Given the description of an element on the screen output the (x, y) to click on. 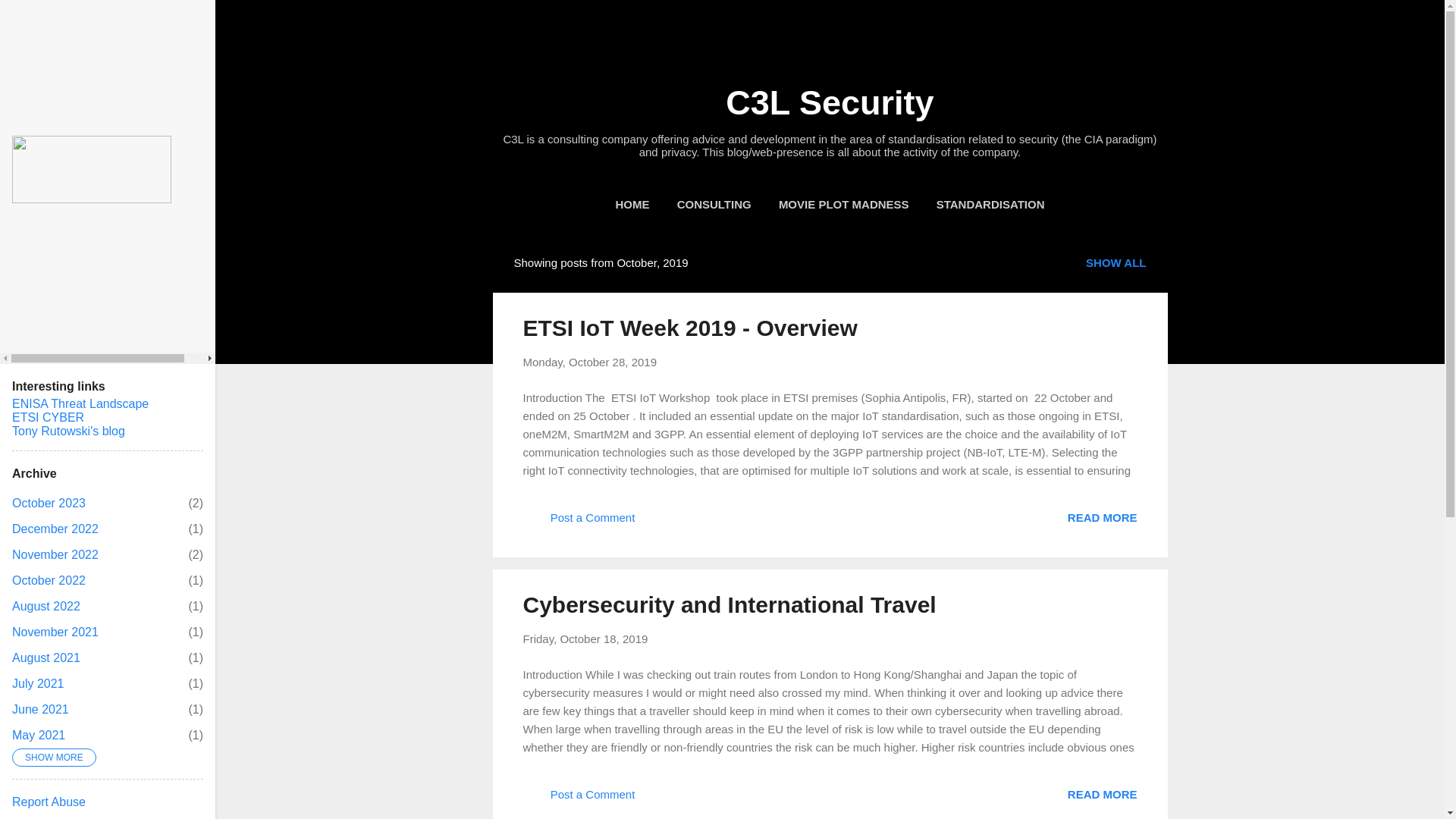
Post a Comment (578, 799)
Tony Rutowski's blog (68, 431)
Search (29, 18)
SHOW ALL (1115, 262)
MOVIE PLOT MADNESS (844, 204)
permanent link (48, 502)
Friday, October 18, 2019 (590, 361)
CONSULTING (584, 638)
ENISA Threat Landscape (714, 204)
